Given the description of an element on the screen output the (x, y) to click on. 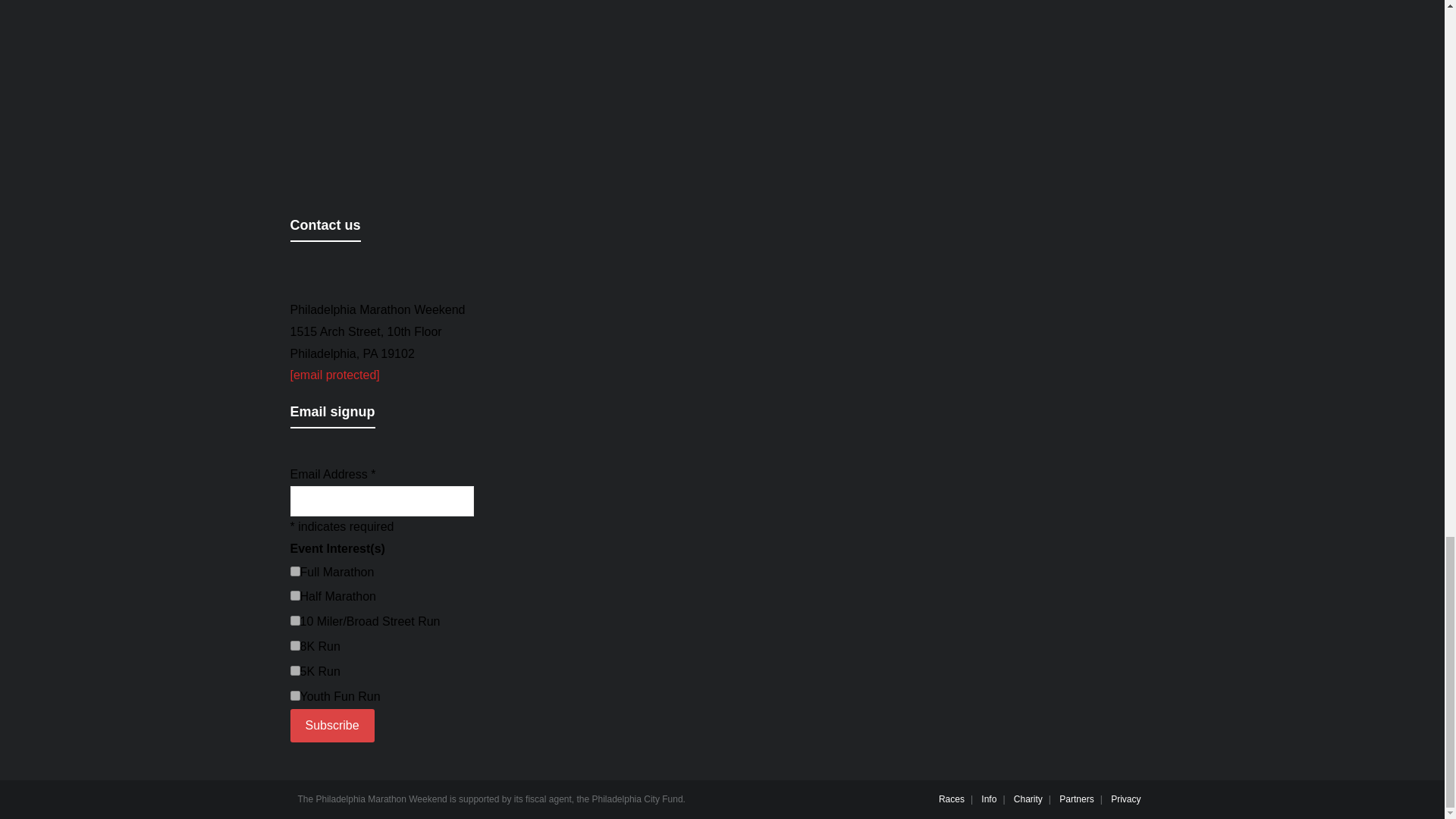
32 (294, 696)
Subscribe (331, 725)
2 (294, 595)
1 (294, 571)
16 (294, 670)
4 (294, 620)
8 (294, 645)
